Given the description of an element on the screen output the (x, y) to click on. 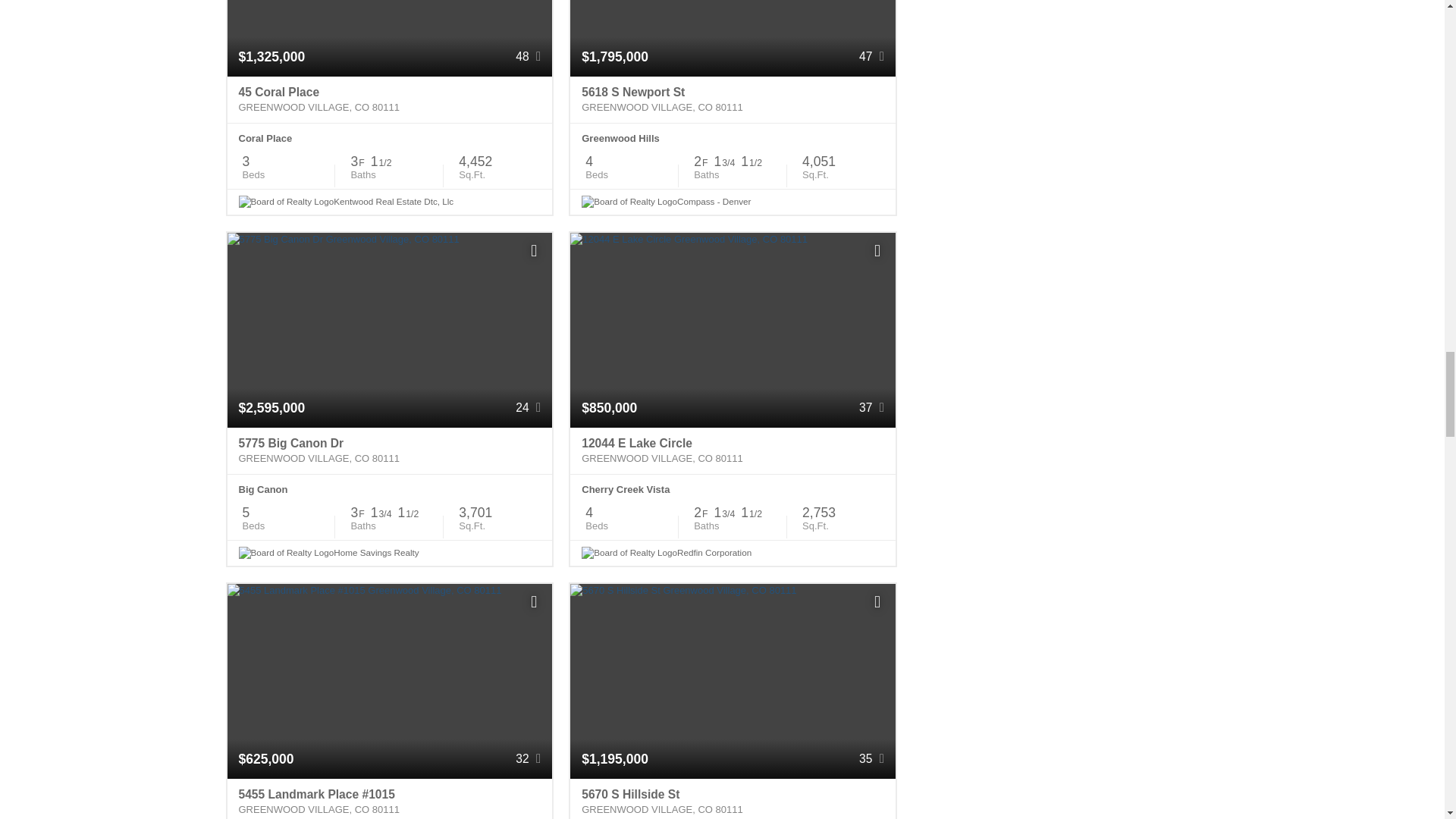
5775 Big Canon Dr Greenwood Village,  CO 80111 (390, 451)
5618 S Newport St Greenwood Village,  CO 80111 (732, 99)
45 Coral Place Greenwood Village,  CO 80111 (390, 99)
